Given the description of an element on the screen output the (x, y) to click on. 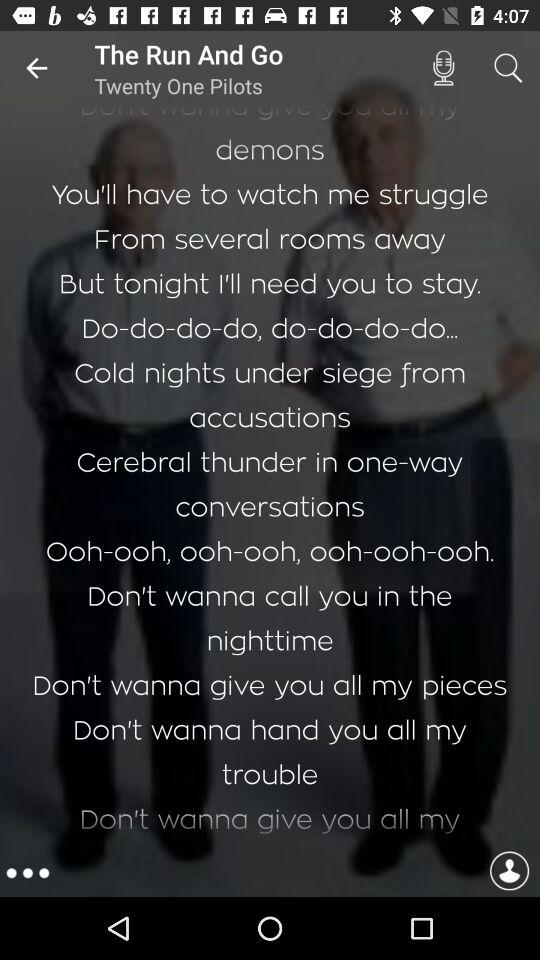
click item below i can t item (509, 873)
